Given the description of an element on the screen output the (x, y) to click on. 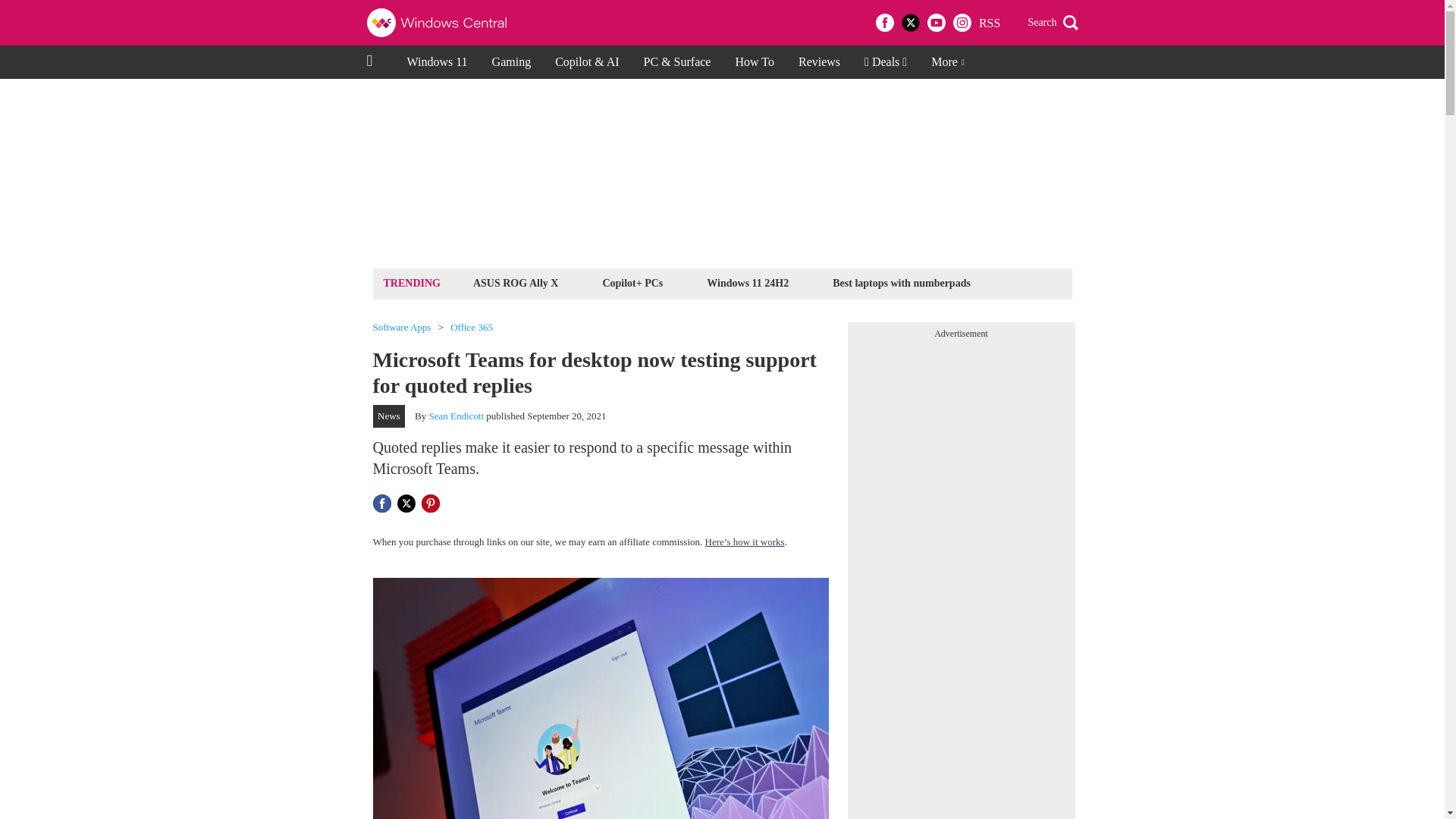
Software Apps (401, 327)
RSS (989, 22)
ASUS ROG Ally X (515, 282)
News (389, 415)
Sean Endicott (456, 415)
Windows 11 (436, 61)
Best laptops with numberpads (901, 282)
Reviews (818, 61)
Windows 11 24H2 (747, 282)
How To (754, 61)
